Given the description of an element on the screen output the (x, y) to click on. 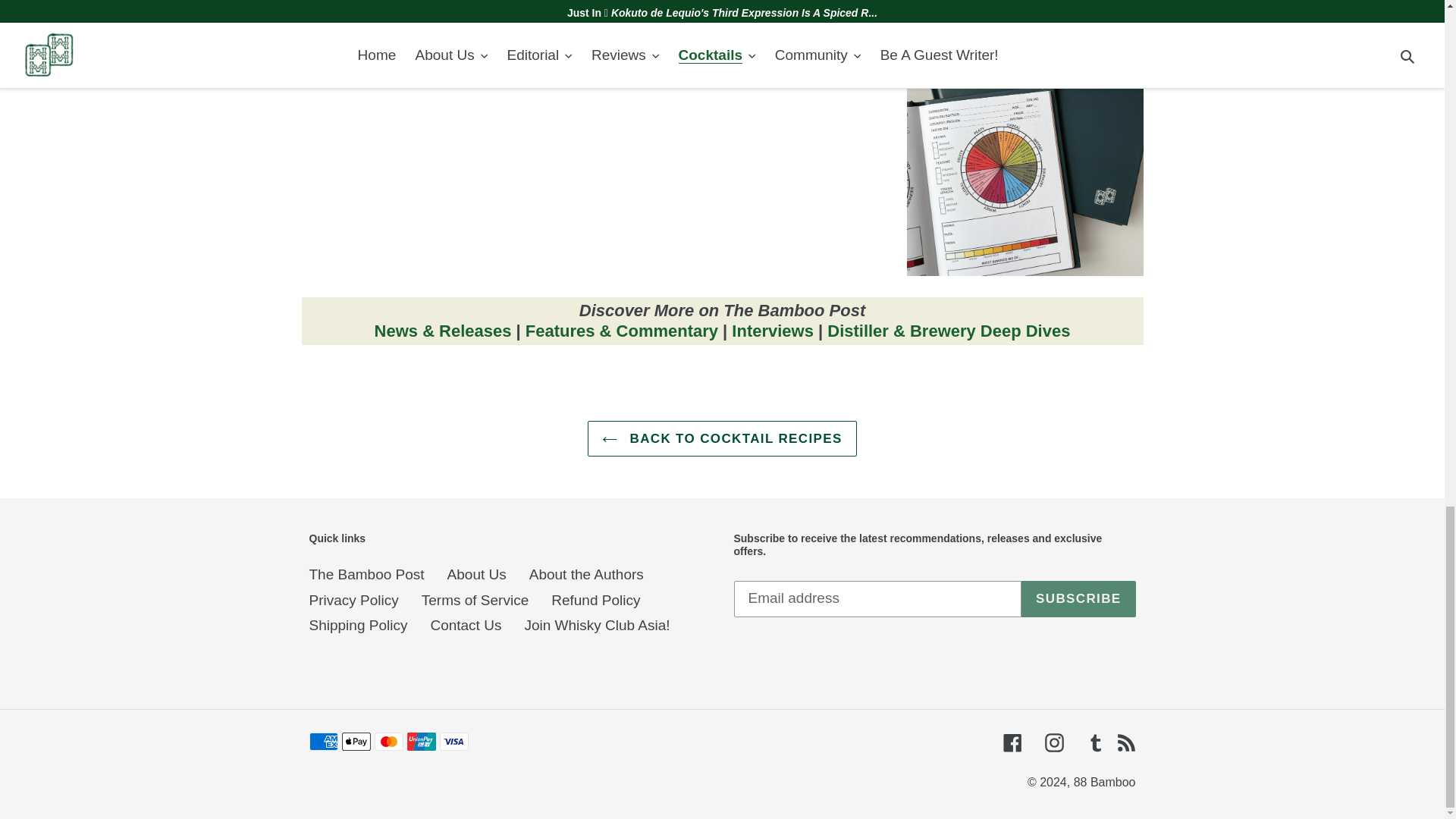
American Express (322, 741)
Visa (453, 741)
Union Pay (420, 741)
Mastercard (388, 741)
Apple Pay (354, 741)
